Given the description of an element on the screen output the (x, y) to click on. 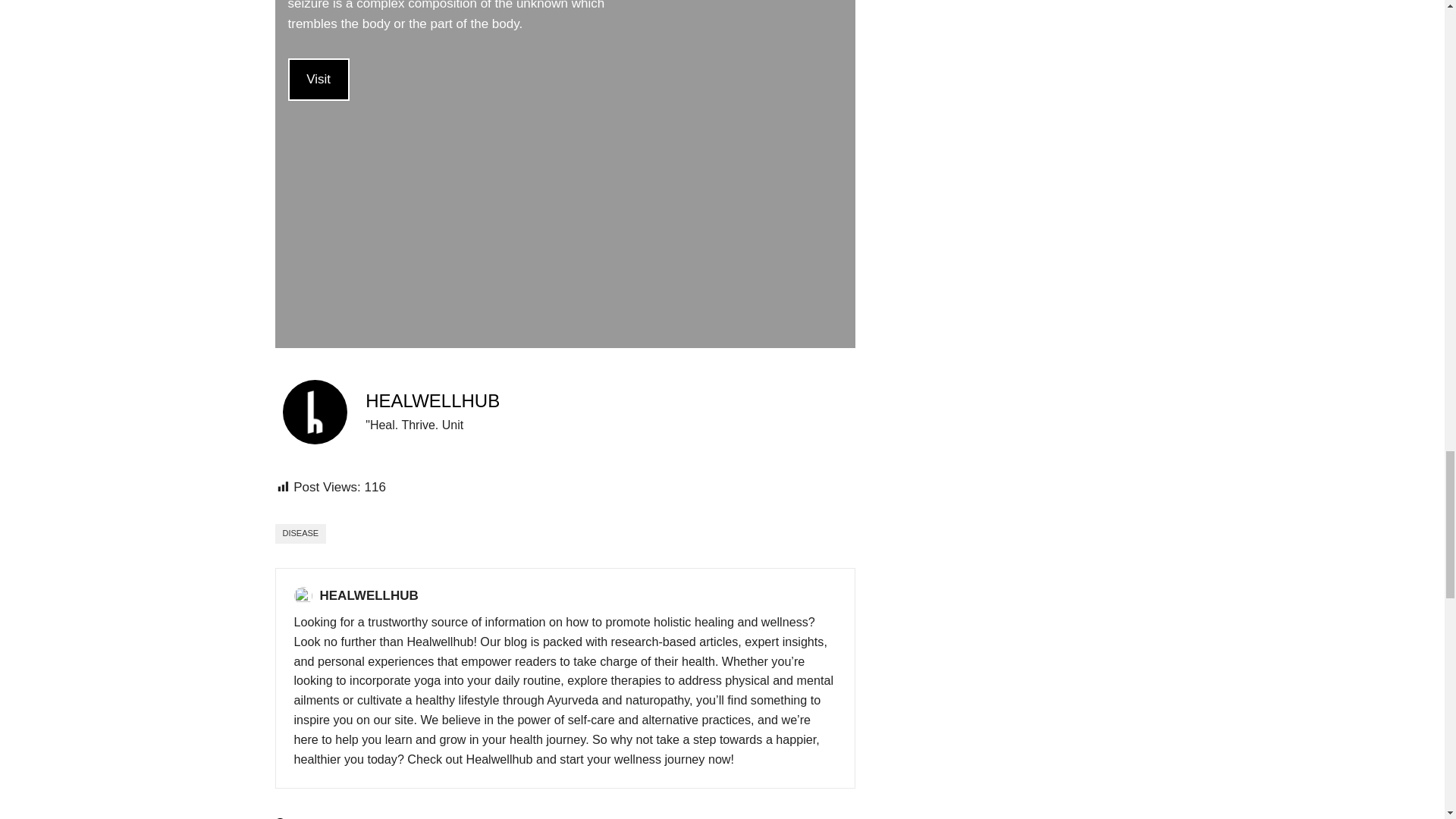
HEALWELLHUB (432, 400)
DISEASE (300, 533)
Visit (318, 79)
